Given the description of an element on the screen output the (x, y) to click on. 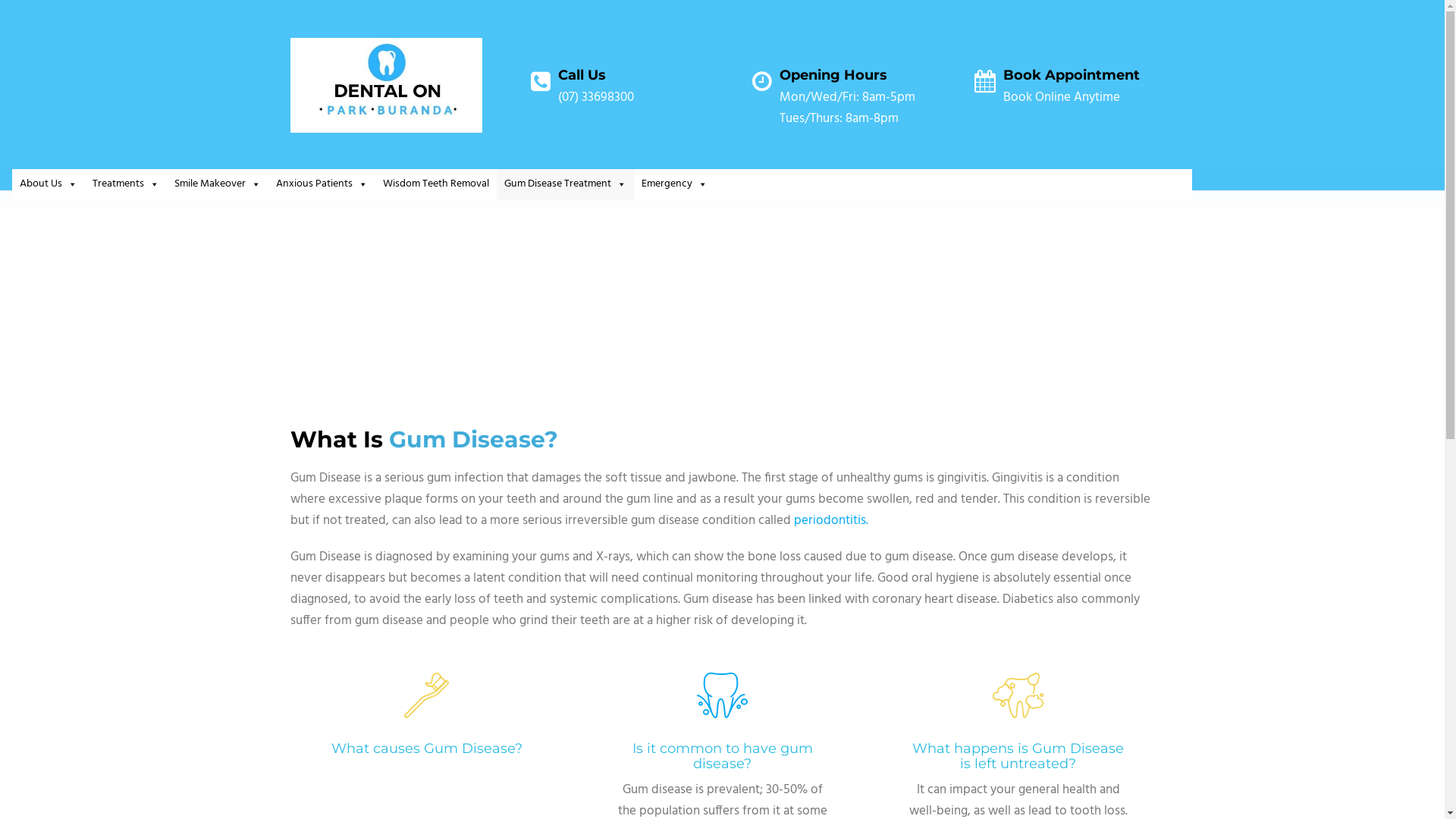
Emergency Element type: text (674, 184)
Book Appointment Element type: text (1071, 74)
About Us Element type: text (48, 184)
Smile Makeover Element type: text (217, 184)
Treatments Element type: text (125, 184)
periodontitis. Element type: text (830, 520)
Anxious Patients Element type: text (321, 184)
Wisdom Teeth Removal Element type: text (435, 184)
Gum Disease Treatment Element type: text (564, 184)
Skip to content Element type: text (0, 0)
